Given the description of an element on the screen output the (x, y) to click on. 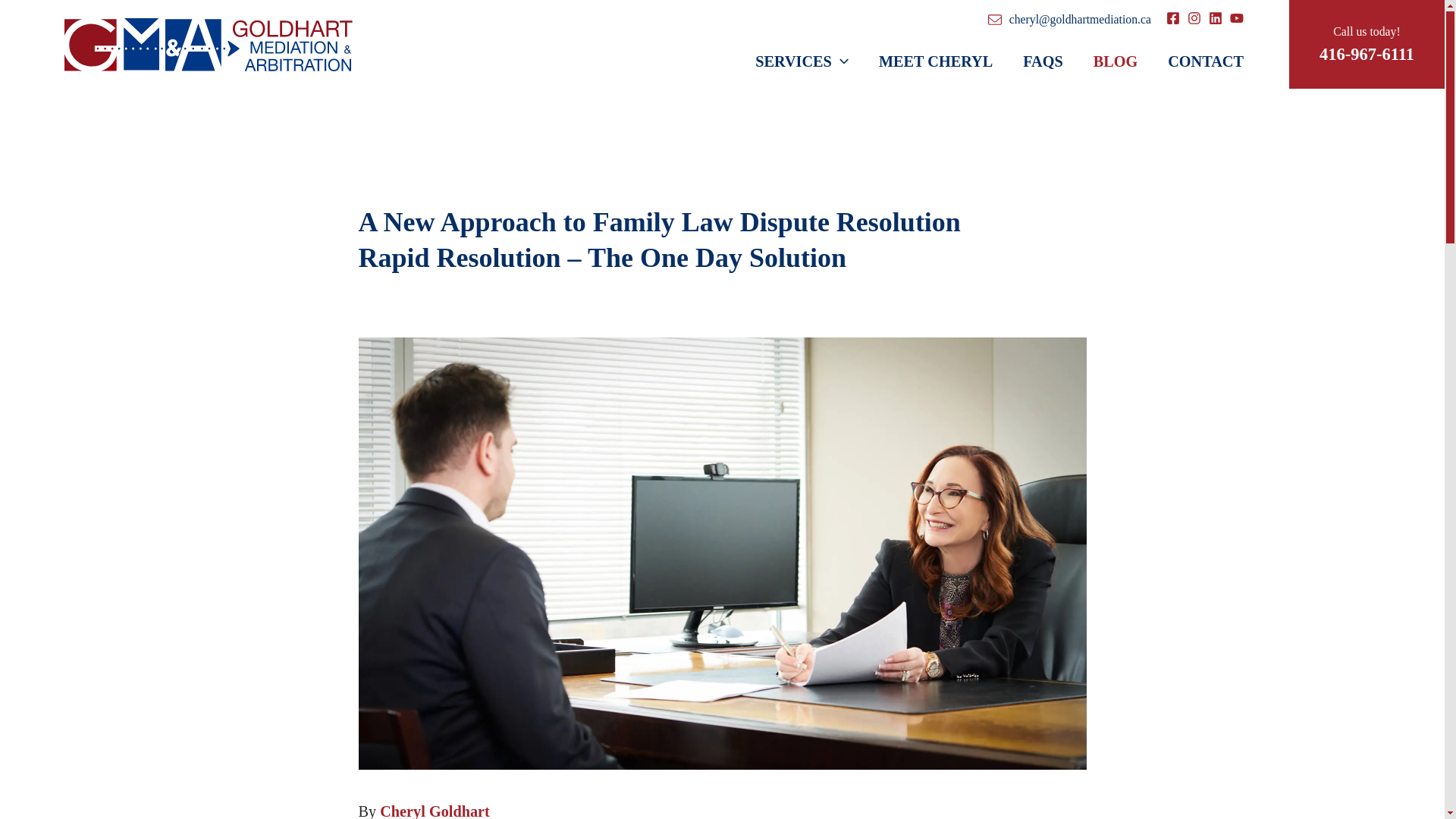
CONTACT (1198, 61)
BLOG (1115, 61)
MEET CHERYL (935, 61)
SERVICES (801, 61)
FAQS (1042, 61)
416-967-6111 (1366, 54)
